Given the description of an element on the screen output the (x, y) to click on. 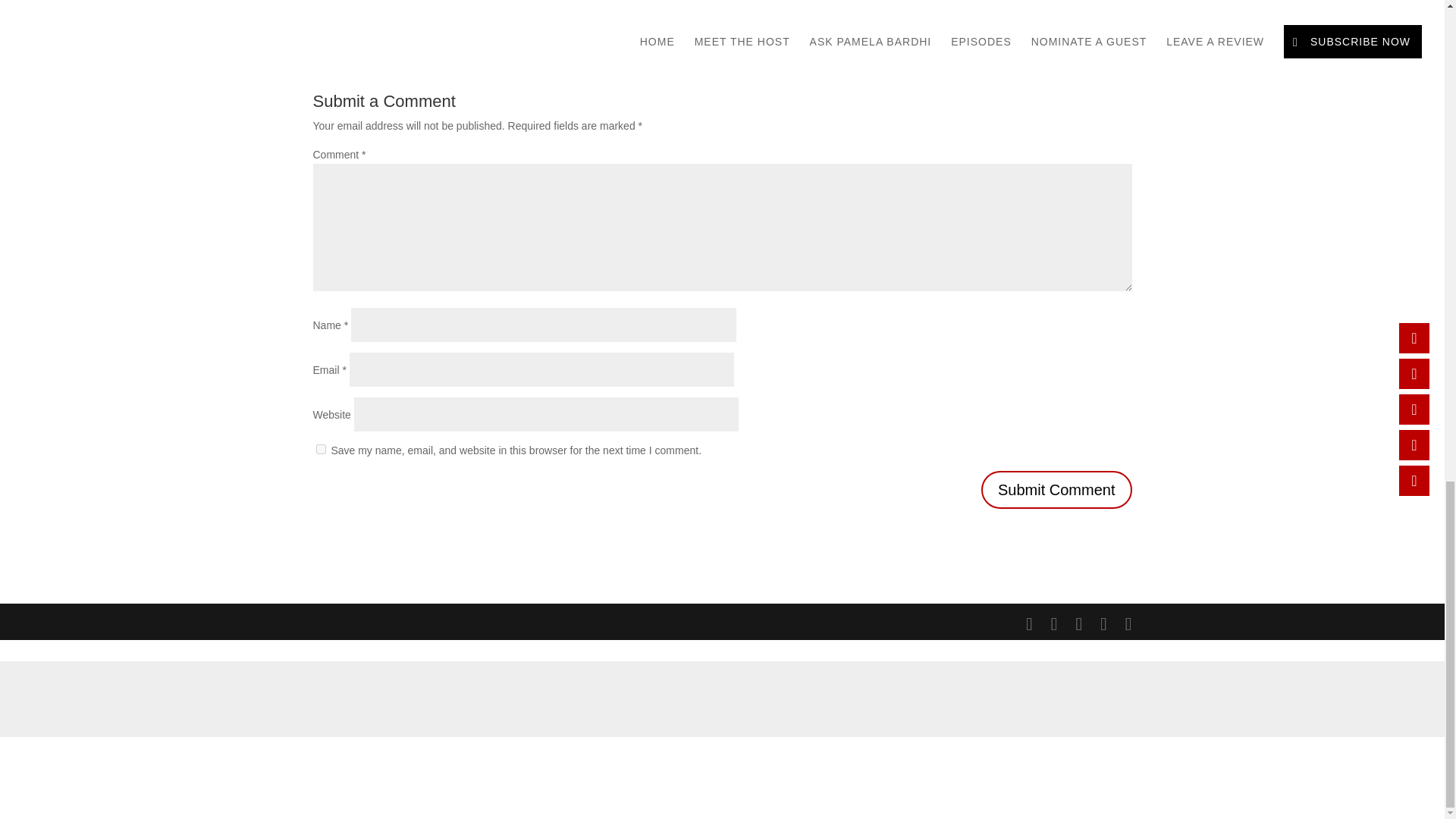
Submit Comment (1056, 489)
yes (319, 449)
Submit Comment (1056, 489)
